Given the description of an element on the screen output the (x, y) to click on. 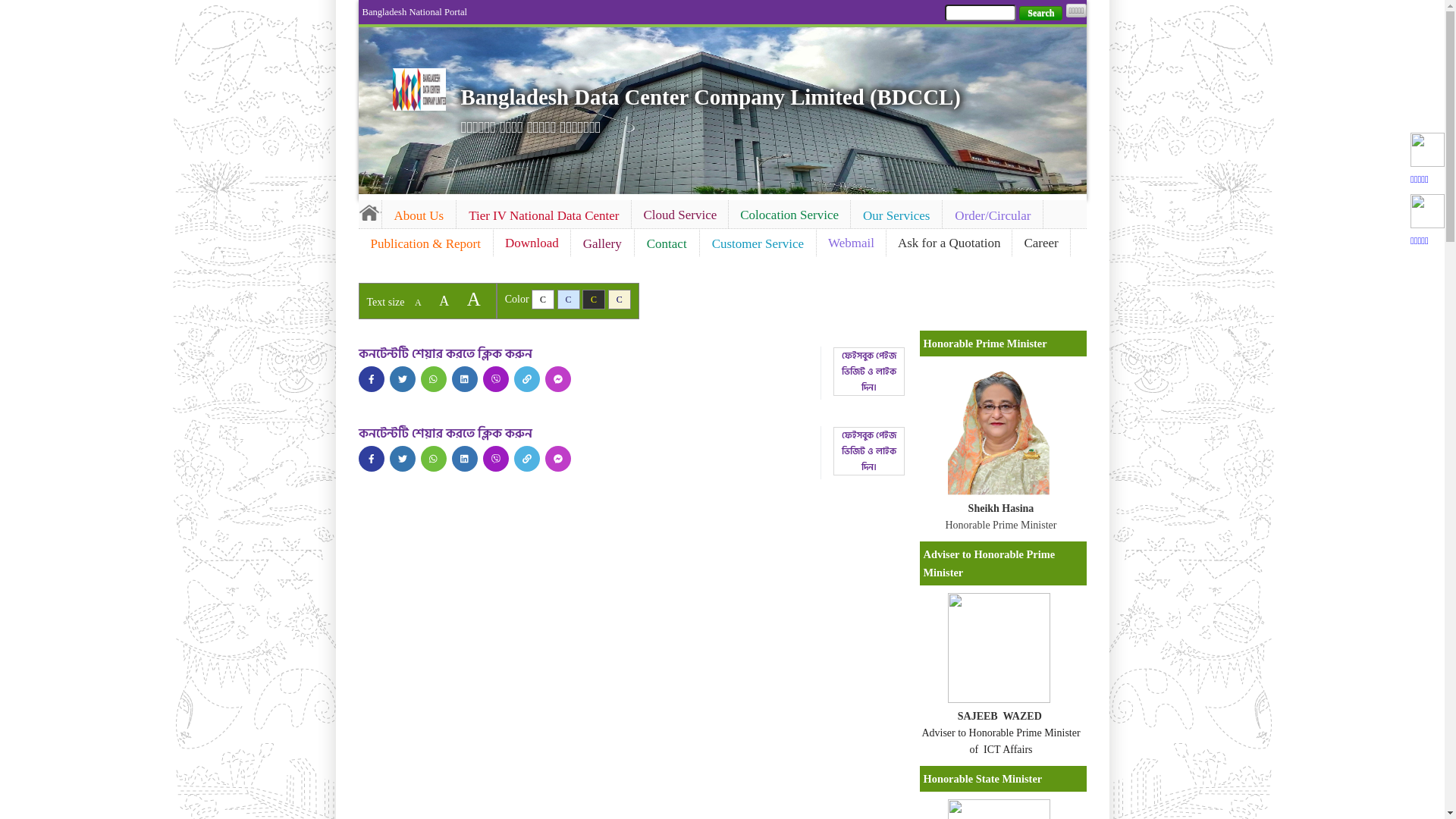
Home Element type: hover (368, 211)
Home Element type: hover (418, 89)
Order/Circular Element type: text (992, 216)
Ask for a Quotation Element type: text (949, 243)
C Element type: text (619, 299)
Gallery Element type: text (602, 244)
Search Element type: text (1040, 13)
Customer Service Element type: text (757, 244)
C Element type: text (593, 299)
Cloud Service Element type: text (679, 215)
Bangladesh National Portal Element type: text (414, 11)
Webmail Element type: text (850, 243)
A Element type: text (418, 302)
Contact Element type: text (666, 244)
About Us Element type: text (419, 216)
Our Services Element type: text (895, 216)
Tier IV National Data Center Element type: text (543, 216)
Colocation Service Element type: text (789, 215)
C Element type: text (542, 299)
Bangladesh Data Center Company Limited (BDCCL) Element type: text (710, 96)
Download Element type: text (531, 243)
Career Element type: text (1040, 243)
C Element type: text (568, 299)
A Element type: text (443, 300)
A Element type: text (473, 299)
Publication & Report Element type: text (424, 244)
